Given the description of an element on the screen output the (x, y) to click on. 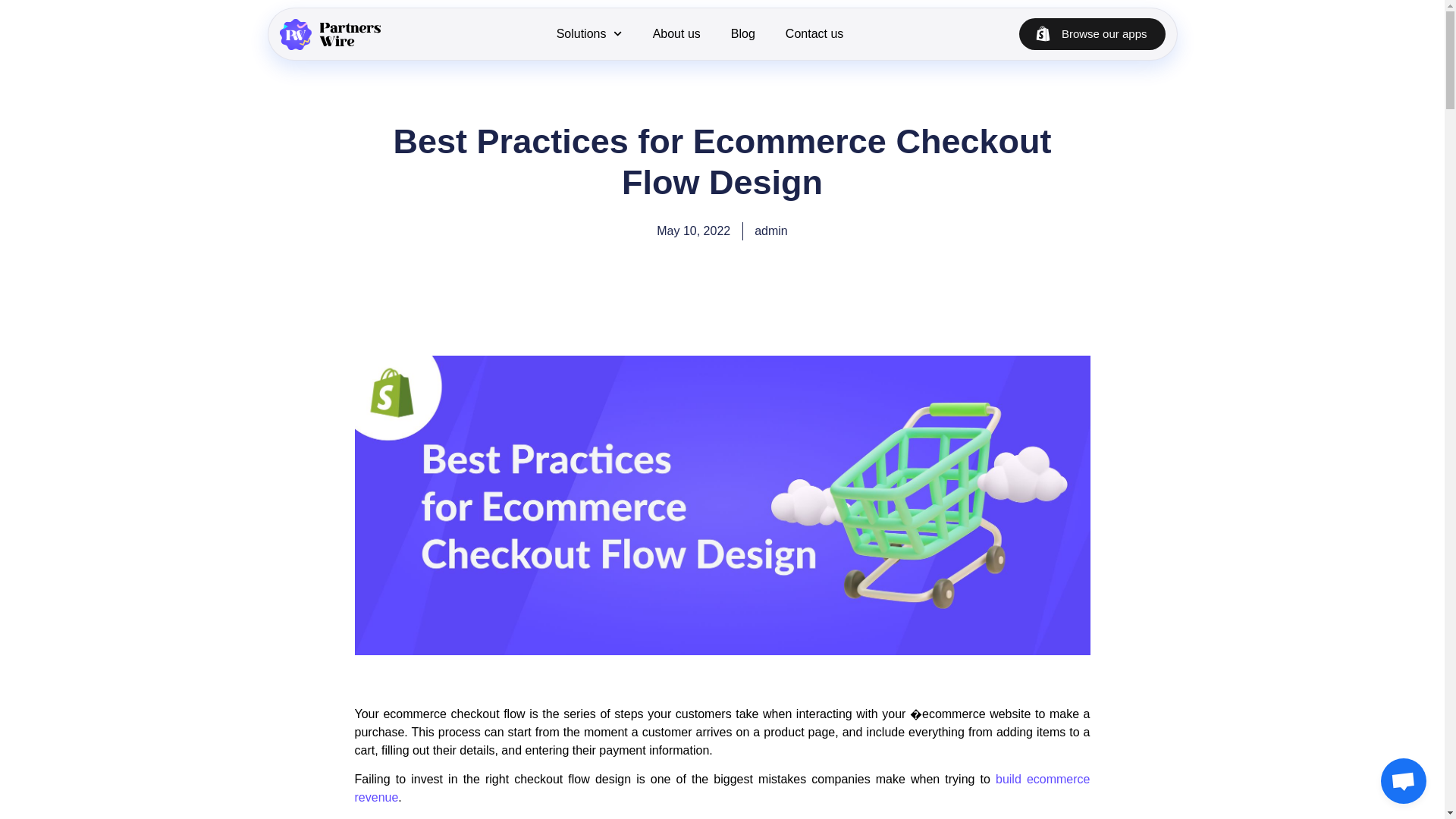
Solutions (589, 33)
Contact us (814, 33)
About us (676, 33)
May 10, 2022 (693, 230)
build ecommerce revenue (722, 788)
Blog (743, 33)
admin (770, 230)
